Given the description of an element on the screen output the (x, y) to click on. 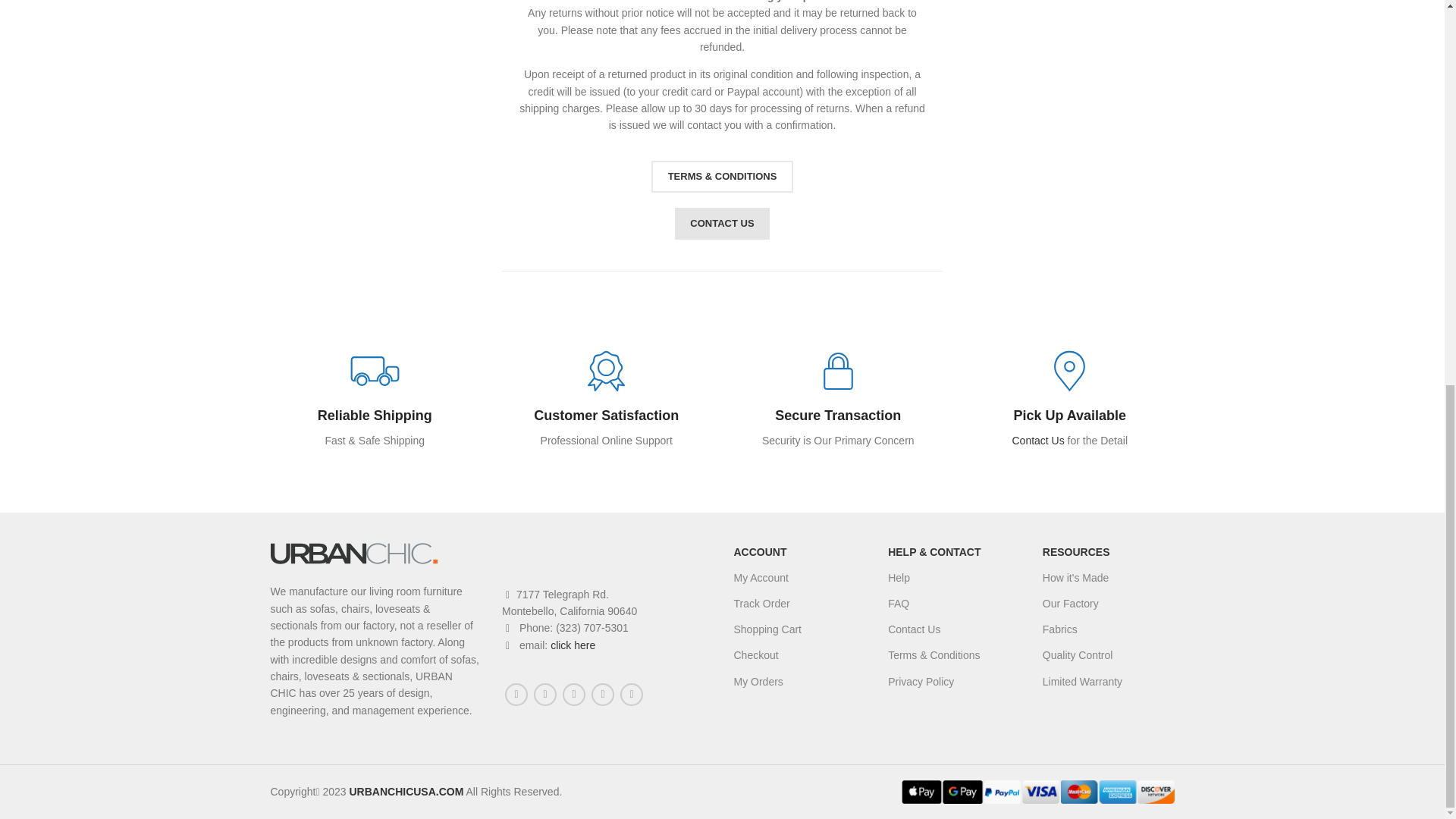
truck-a (374, 370)
Contact Us (721, 223)
click here (572, 645)
location-a (1069, 370)
CONTACT US (721, 223)
Contact Us (1037, 440)
Terms and Conditions (721, 176)
My account (799, 577)
secure-c (838, 370)
UrbanChic USA (352, 553)
satisfaction-a (605, 370)
contact us (662, 1)
